Given the description of an element on the screen output the (x, y) to click on. 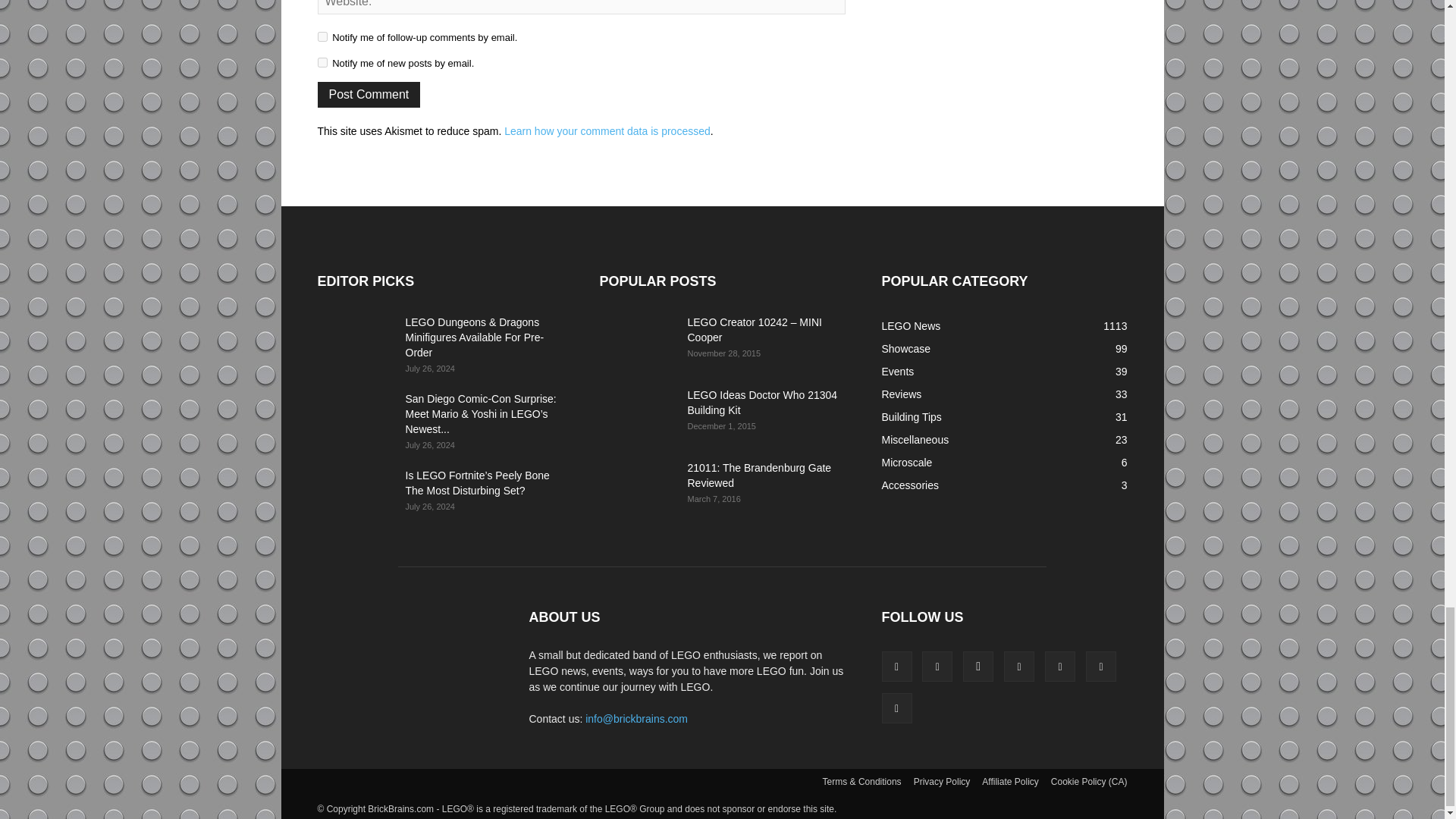
subscribe (321, 36)
Post Comment (368, 94)
subscribe (321, 62)
